Given the description of an element on the screen output the (x, y) to click on. 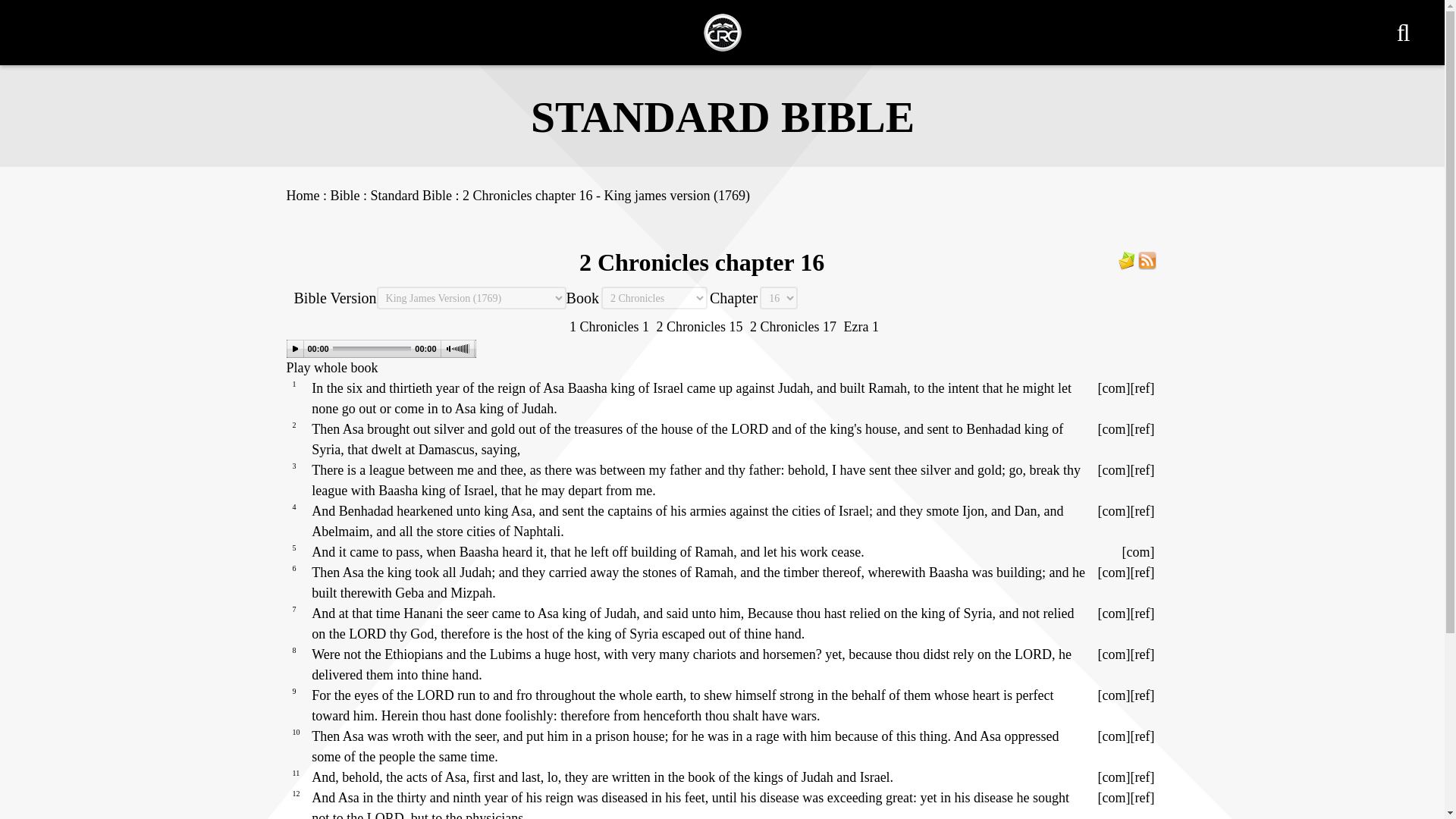
Click to view RSS Feed (1146, 258)
Click to read  (1142, 735)
Click to read  (1142, 572)
Click to read  (1142, 387)
Go to next chapter (792, 326)
Click to read  (1142, 694)
Click to Subscribe (1126, 258)
Go to previous chapter (699, 326)
Click to read  (1142, 613)
Click to read  (1142, 654)
Go to previous book (609, 326)
Click to read  (1142, 469)
Click to read  (1142, 776)
Click to read  (1142, 510)
Click to read  (1142, 428)
